Given the description of an element on the screen output the (x, y) to click on. 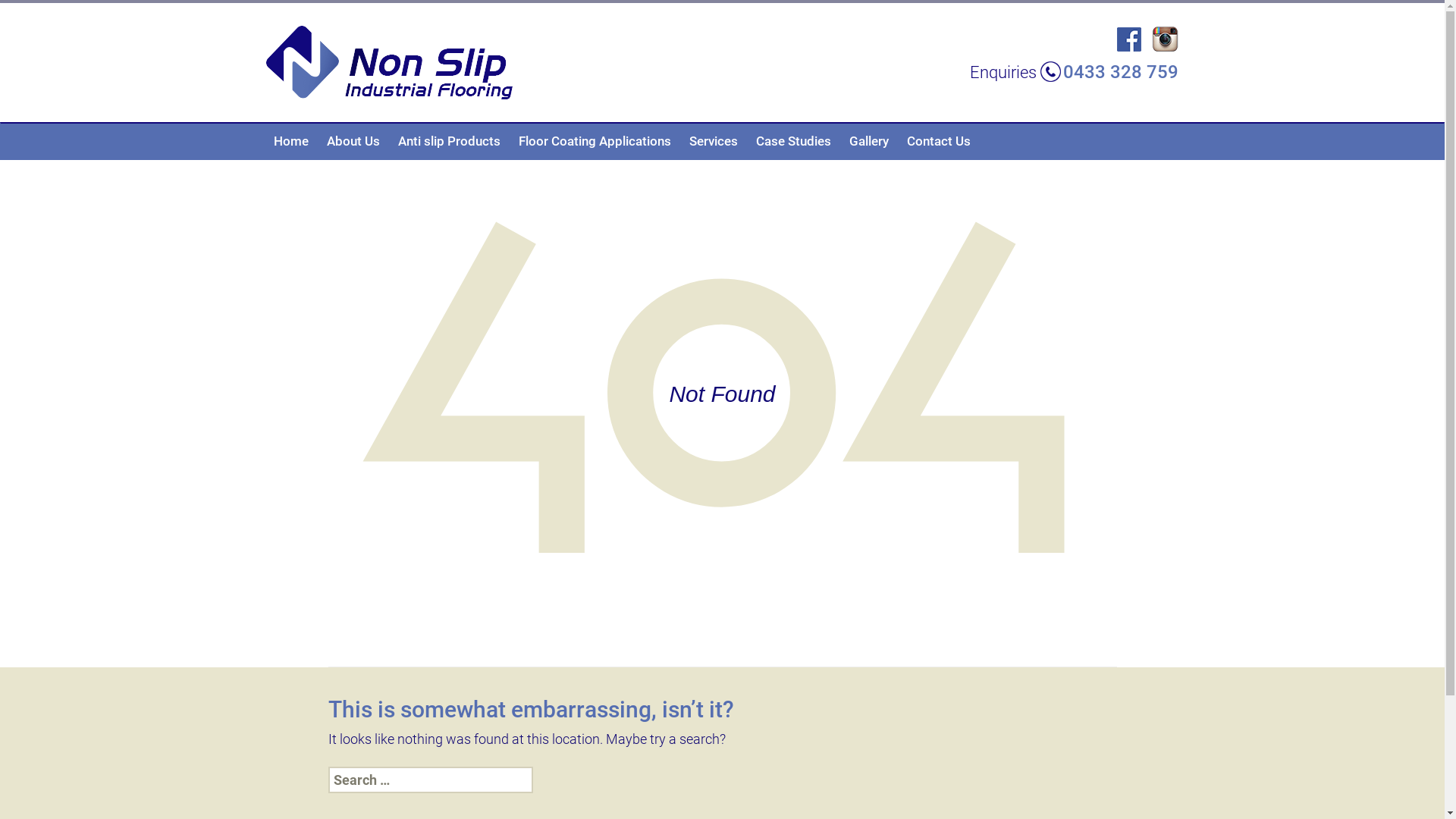
About Us Element type: text (353, 141)
Contact Us Element type: text (938, 141)
Non Slip Industrial Flooring Element type: hover (389, 61)
Anti slip Products Element type: text (449, 141)
Home Element type: text (291, 141)
Search Element type: text (39, 17)
Garage Floor Coating Element type: text (585, 176)
Gallery Element type: text (868, 141)
Search for: Element type: hover (429, 779)
0433 328 759 Element type: text (1109, 71)
Case Studies Element type: text (793, 141)
Floor Coating Applications Element type: text (594, 141)
Services Element type: text (713, 141)
